Given the description of an element on the screen output the (x, y) to click on. 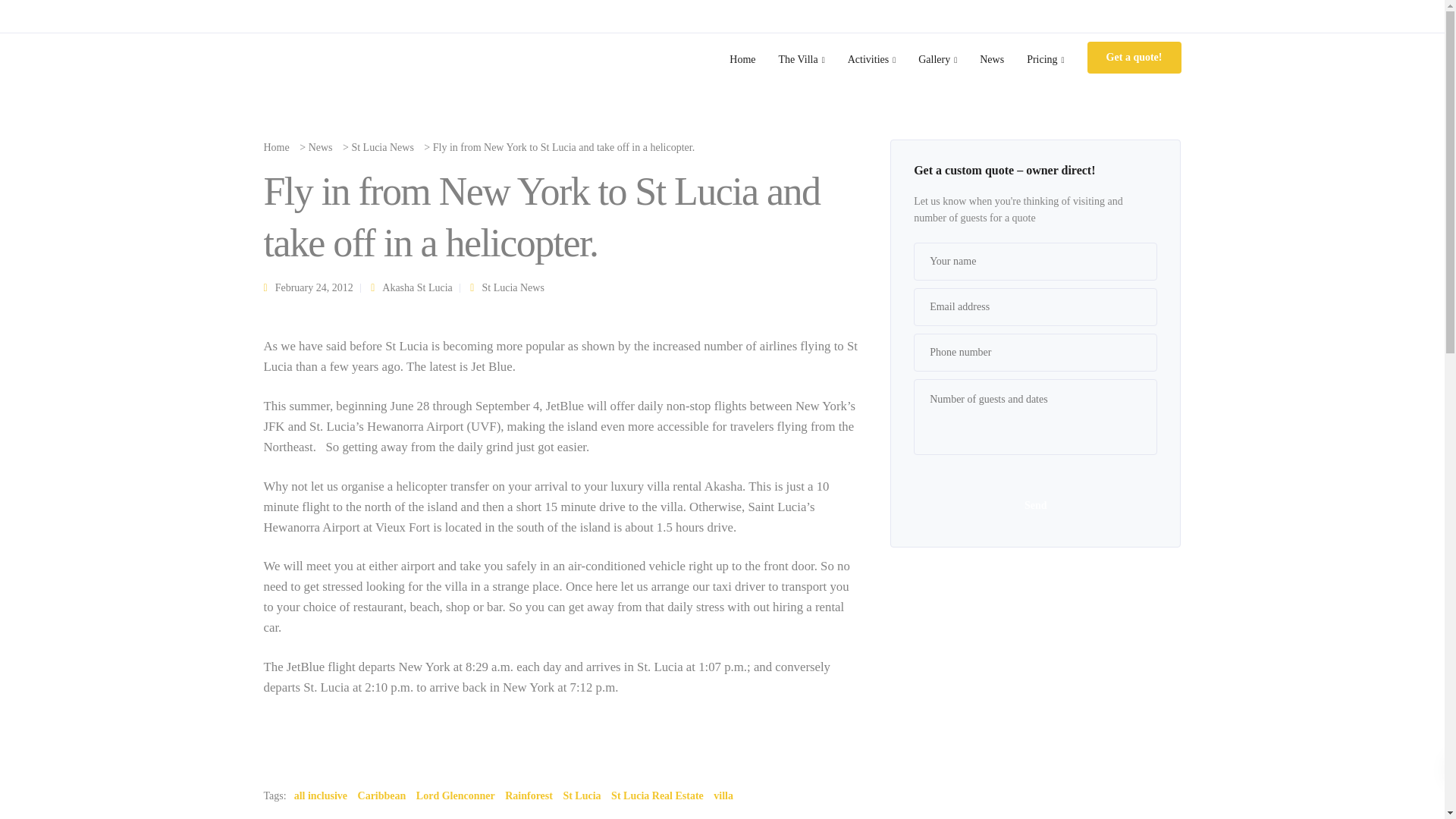
Get a quote! (1133, 57)
Caribbean (382, 796)
Home (742, 59)
Akasha St Lucia (416, 287)
Home (276, 147)
The Villa (801, 59)
St Lucia News (381, 147)
Search (13, 12)
St Lucia Real Estate (657, 796)
Activities (871, 59)
